Given the description of an element on the screen output the (x, y) to click on. 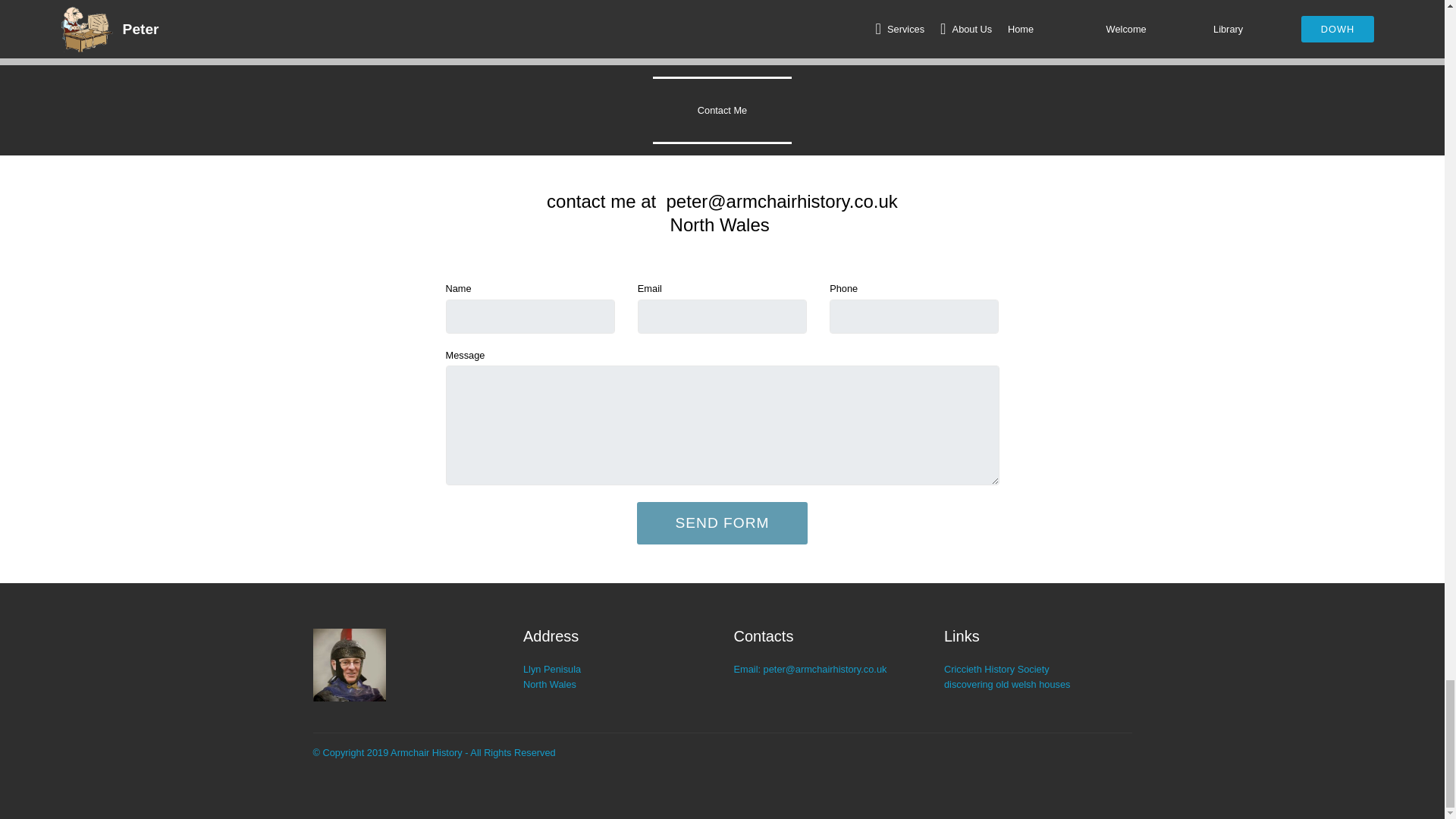
Criccieth History Society (996, 668)
discovering old welsh houses (1006, 684)
SEND FORM (721, 522)
